Given the description of an element on the screen output the (x, y) to click on. 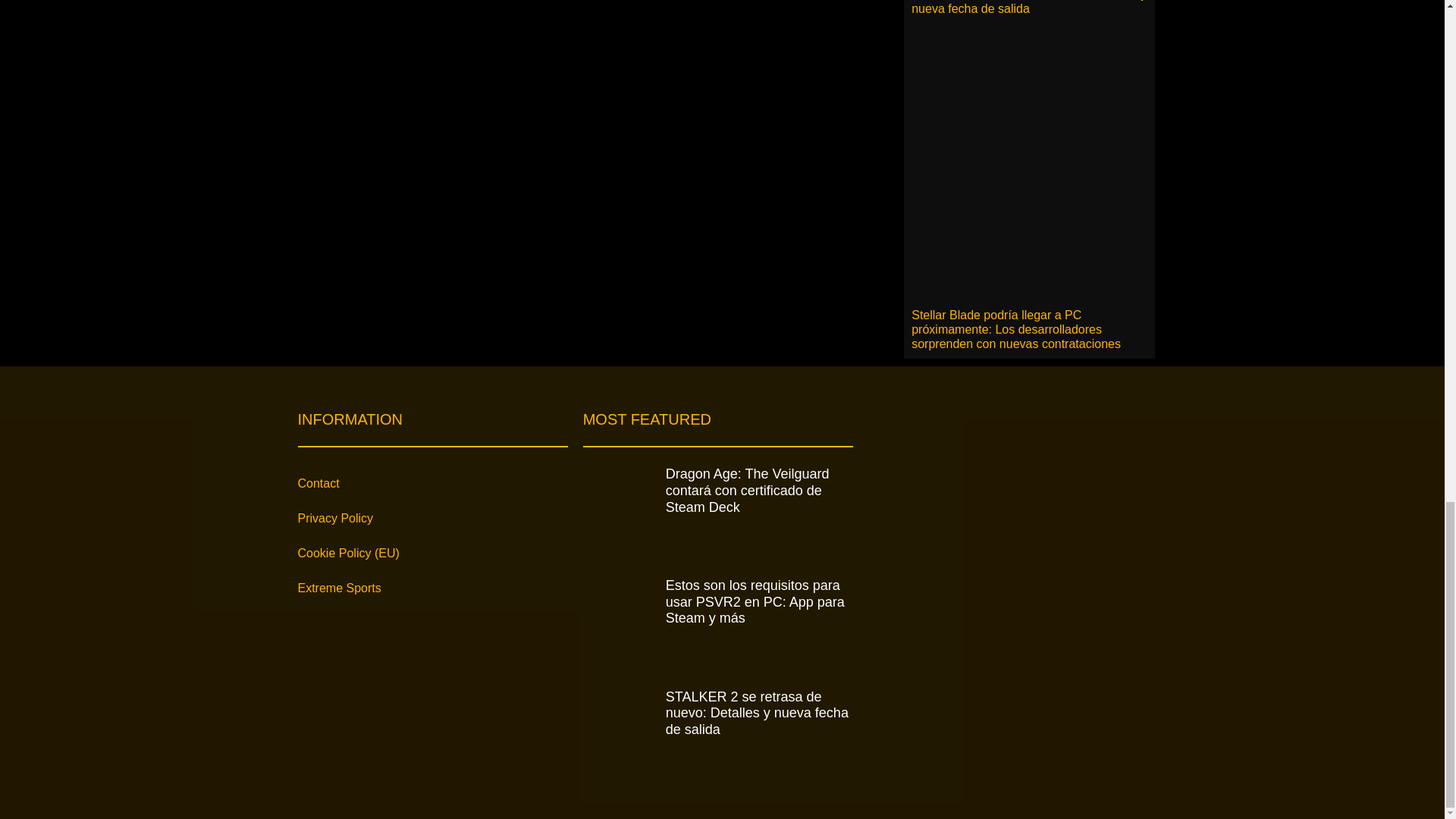
Contact (432, 483)
